Given the description of an element on the screen output the (x, y) to click on. 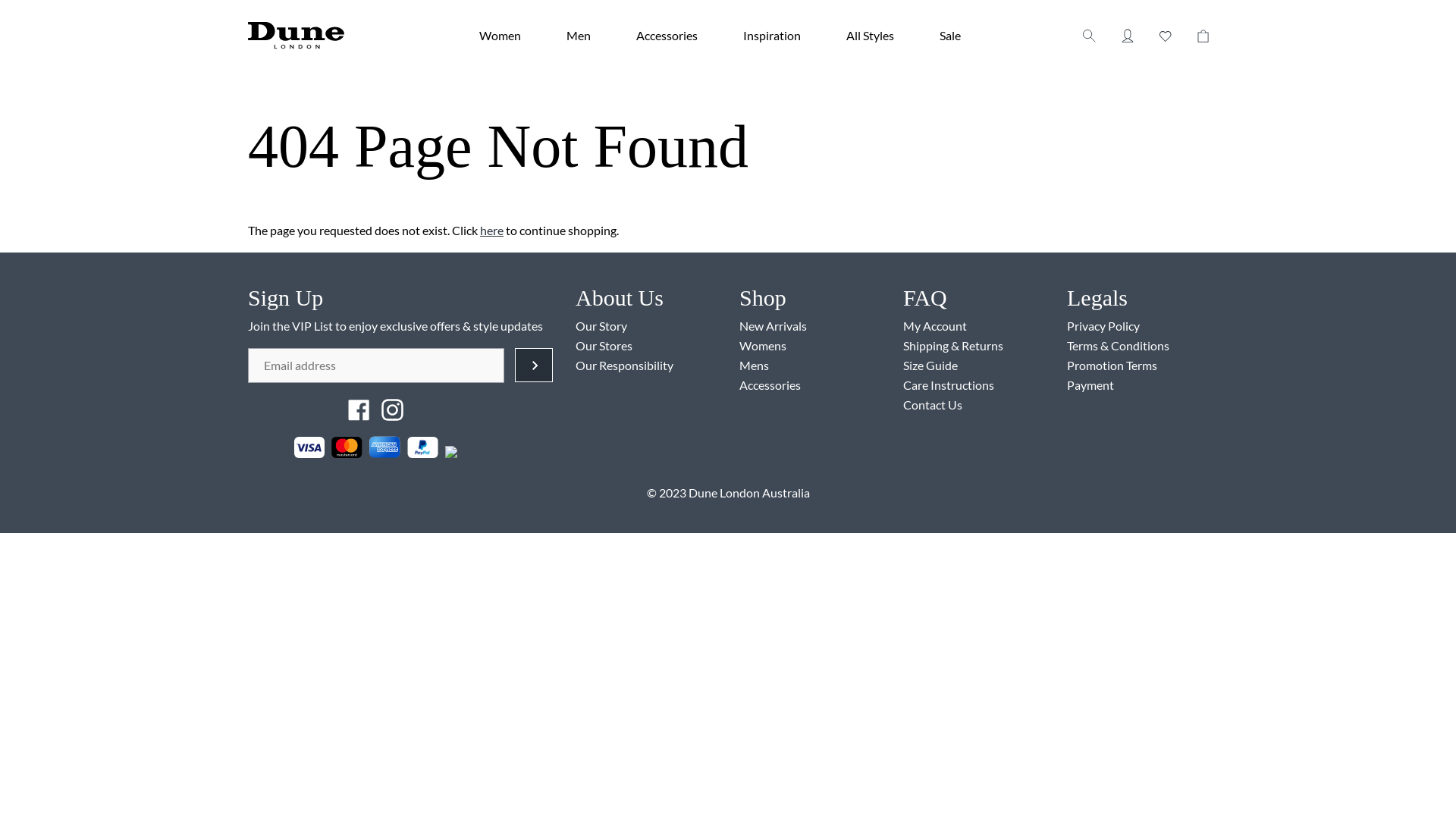
Accessories Element type: text (666, 35)
Inspiration Element type: text (771, 35)
here Element type: text (491, 229)
Accessories Element type: text (769, 384)
Women Element type: text (499, 35)
Womens Element type: text (762, 345)
Our Responsibility Element type: text (624, 364)
All Styles Element type: text (869, 35)
Facebook Element type: text (360, 407)
Shipping & Returns Element type: text (953, 345)
Size Guide Element type: text (930, 364)
Privacy Policy Element type: text (1102, 325)
Instagram Element type: text (392, 407)
Promotion Terms Element type: text (1111, 364)
My Account Element type: text (934, 325)
Contact Us Element type: text (932, 404)
Dune London Australia Element type: text (748, 492)
Our Story Element type: text (601, 325)
Men Element type: text (578, 35)
Mens Element type: text (753, 364)
Sale Element type: text (949, 35)
Payment Element type: text (1089, 384)
Care Instructions Element type: text (948, 384)
Terms & Conditions Element type: text (1117, 345)
New Arrivals Element type: text (772, 325)
Our Stores Element type: text (603, 345)
